Given the description of an element on the screen output the (x, y) to click on. 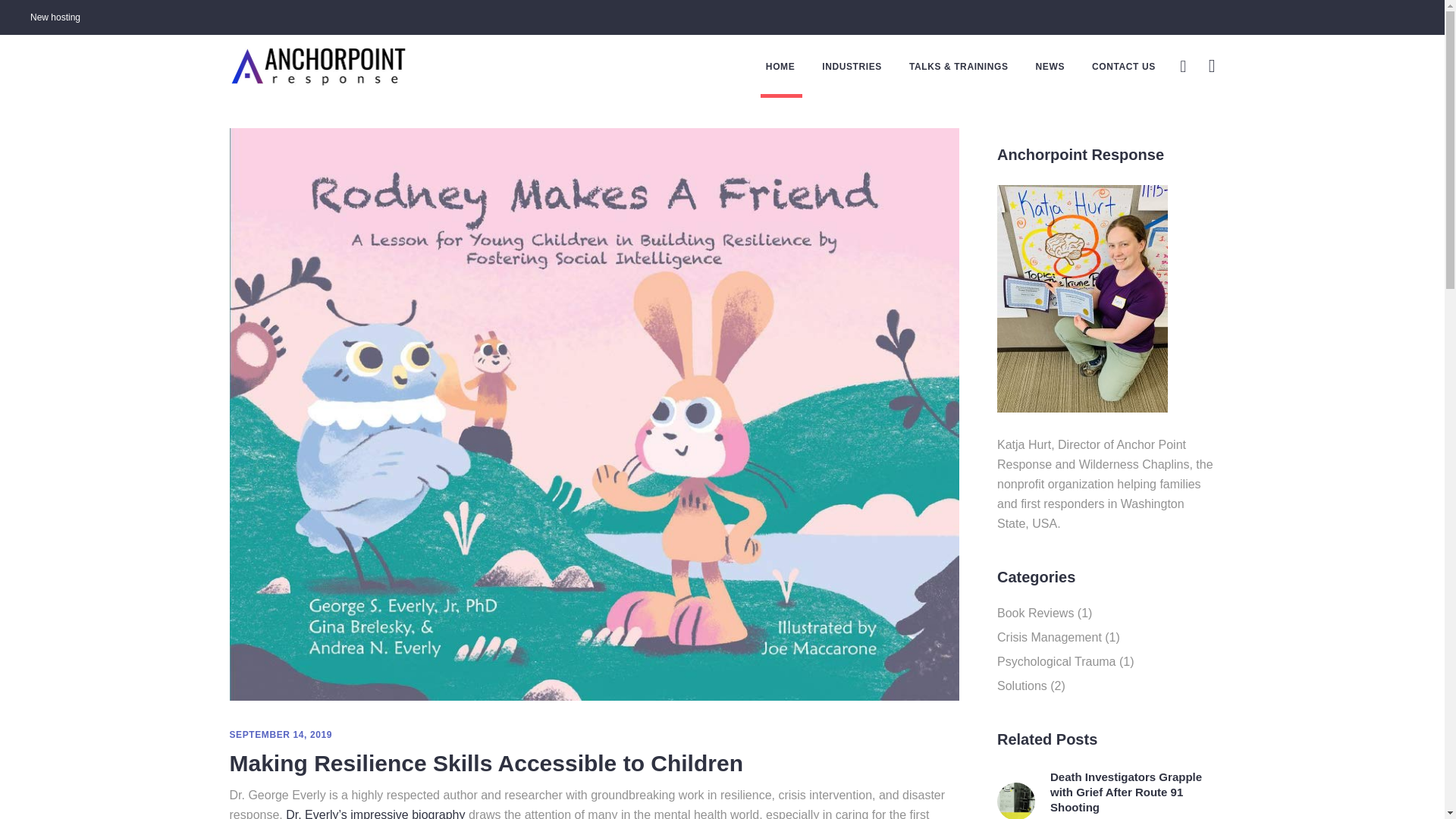
HOME (780, 66)
INDUSTRIES (851, 66)
